Given the description of an element on the screen output the (x, y) to click on. 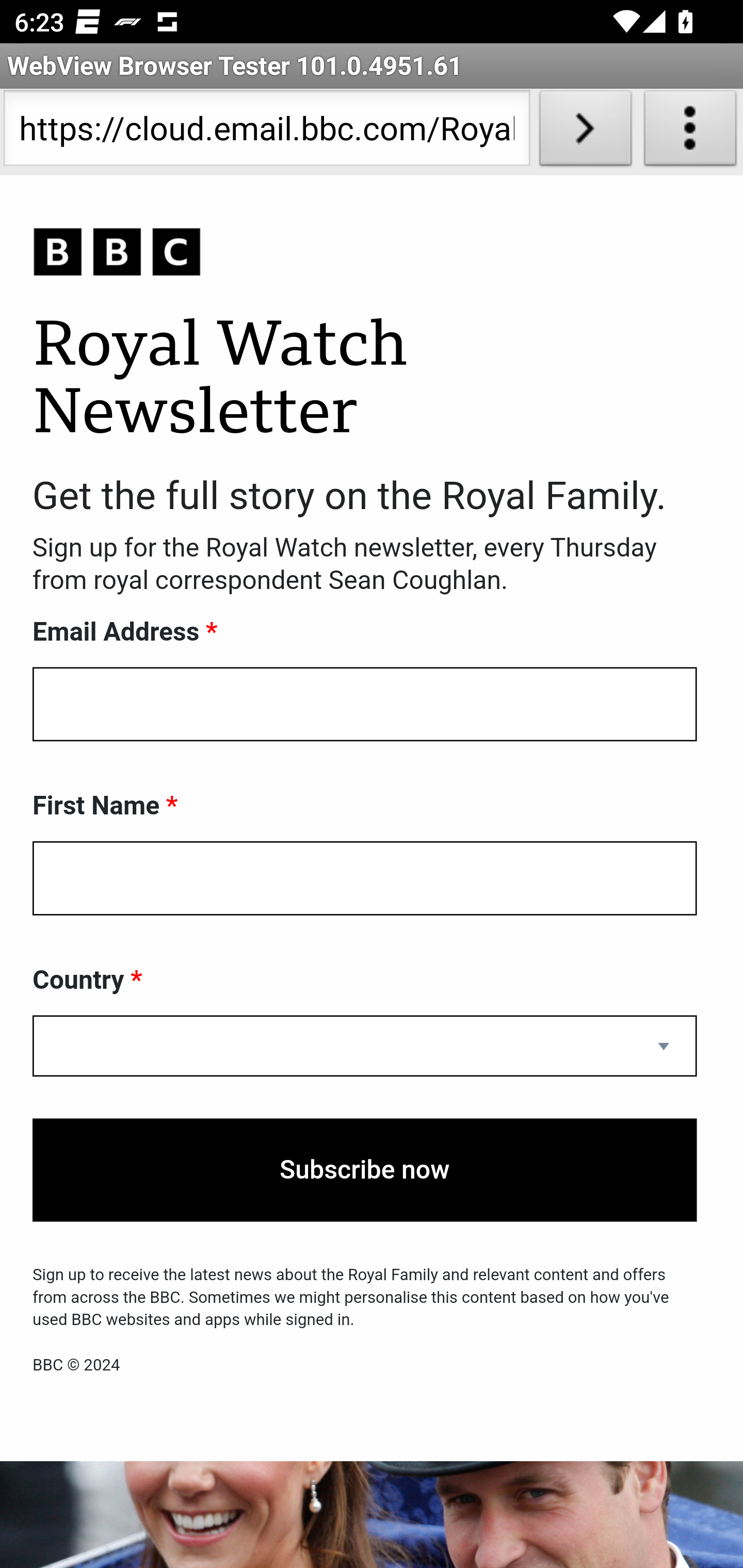
Load URL (585, 132)
About WebView (690, 132)
BBC (364, 253)
Subscribe now (364, 1170)
